Given the description of an element on the screen output the (x, y) to click on. 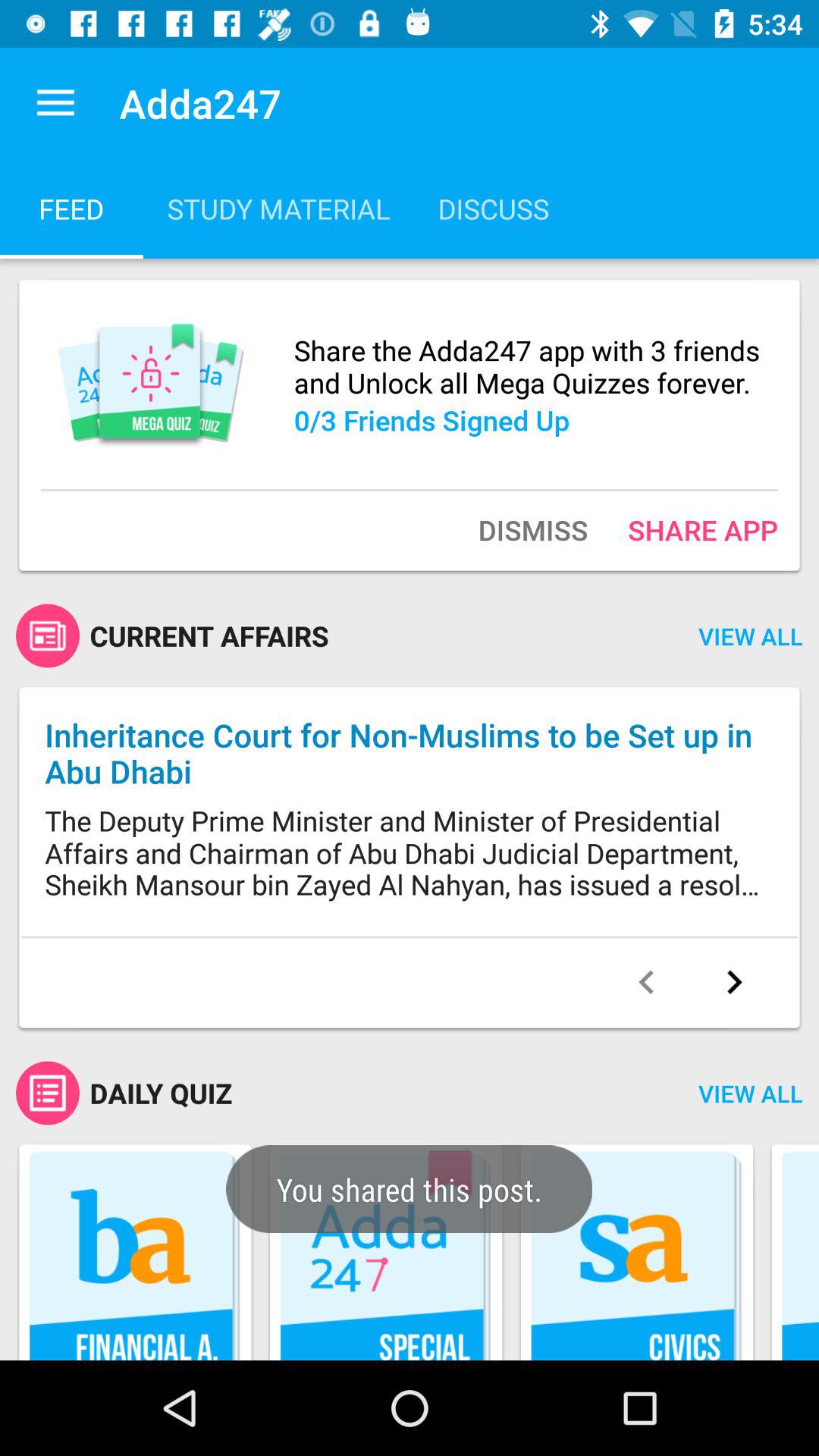
next (734, 982)
